Given the description of an element on the screen output the (x, y) to click on. 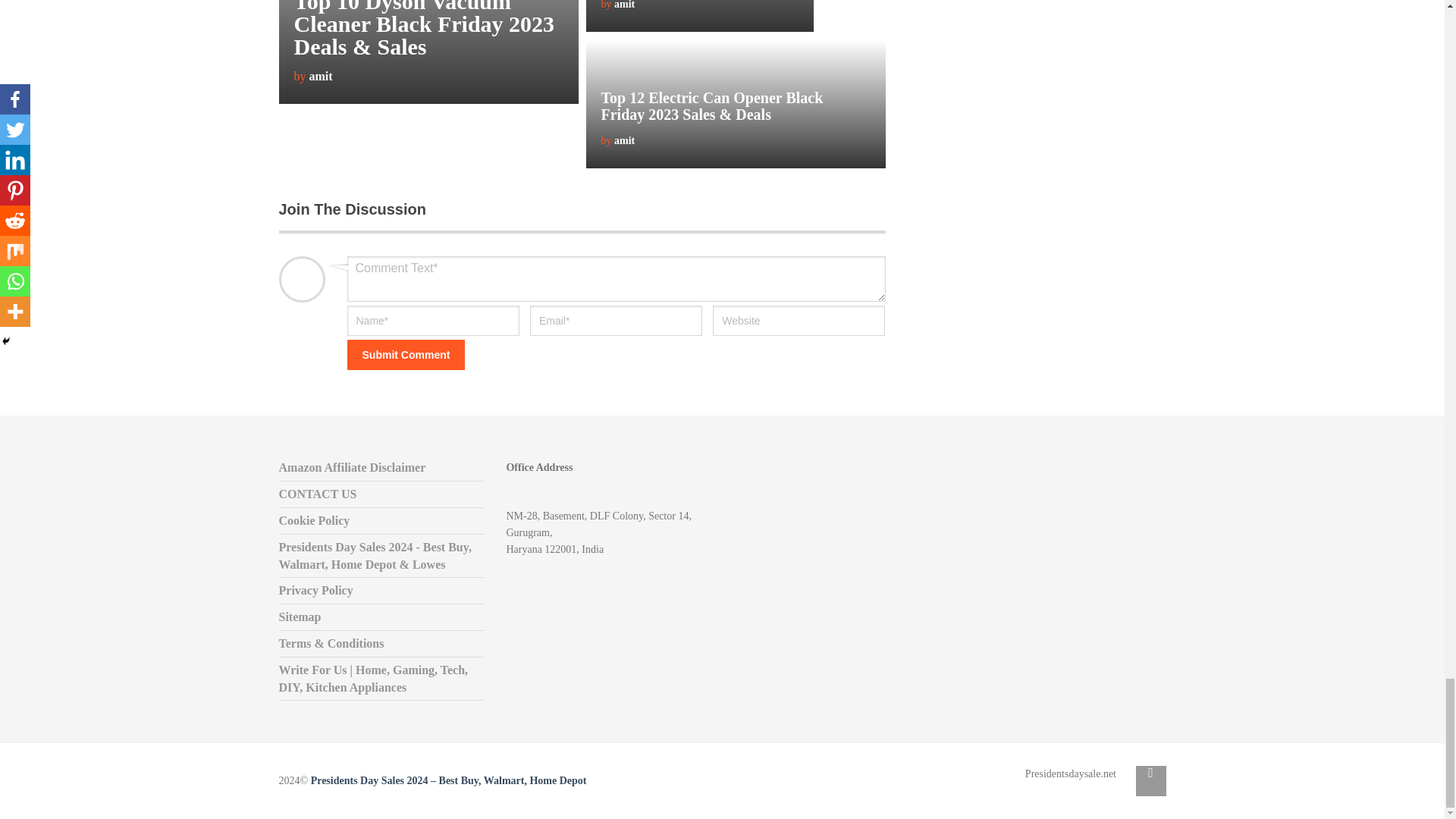
Submit Comment (406, 354)
